Given the description of an element on the screen output the (x, y) to click on. 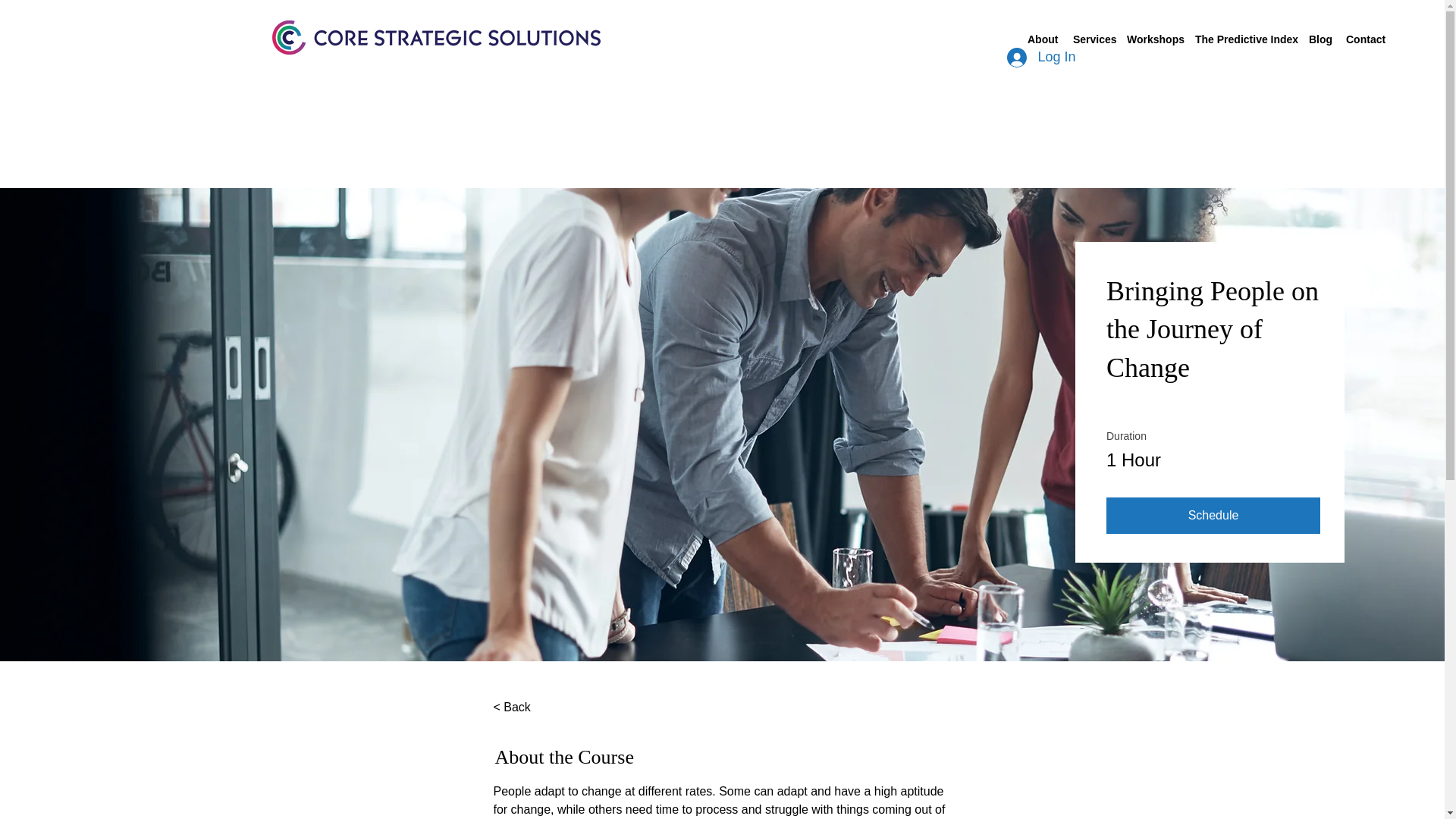
Contact (1364, 38)
Services (1092, 38)
Schedule (1213, 515)
About (1042, 38)
The Predictive Index (1244, 38)
Workshops (1153, 38)
Log In (1040, 57)
Blog (1319, 38)
